Given the description of an element on the screen output the (x, y) to click on. 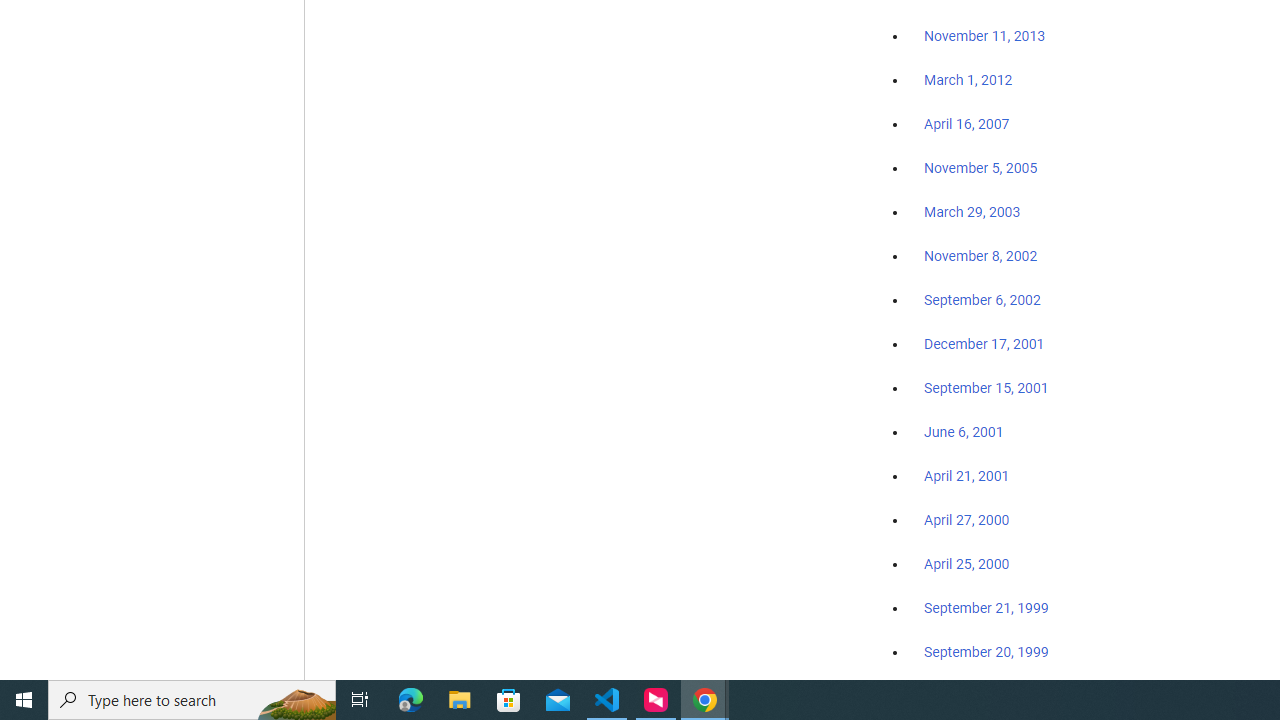
April 25, 2000 (966, 564)
March 29, 2003 (972, 212)
April 16, 2007 (966, 124)
September 6, 2002 (982, 299)
November 11, 2013 (984, 37)
November 8, 2002 (981, 255)
April 27, 2000 (966, 520)
November 5, 2005 (981, 168)
April 21, 2001 (966, 476)
June 6, 2001 (963, 431)
March 1, 2012 (968, 81)
September 20, 1999 (986, 651)
September 21, 1999 (986, 608)
December 17, 2001 (984, 343)
September 15, 2001 (986, 387)
